Given the description of an element on the screen output the (x, y) to click on. 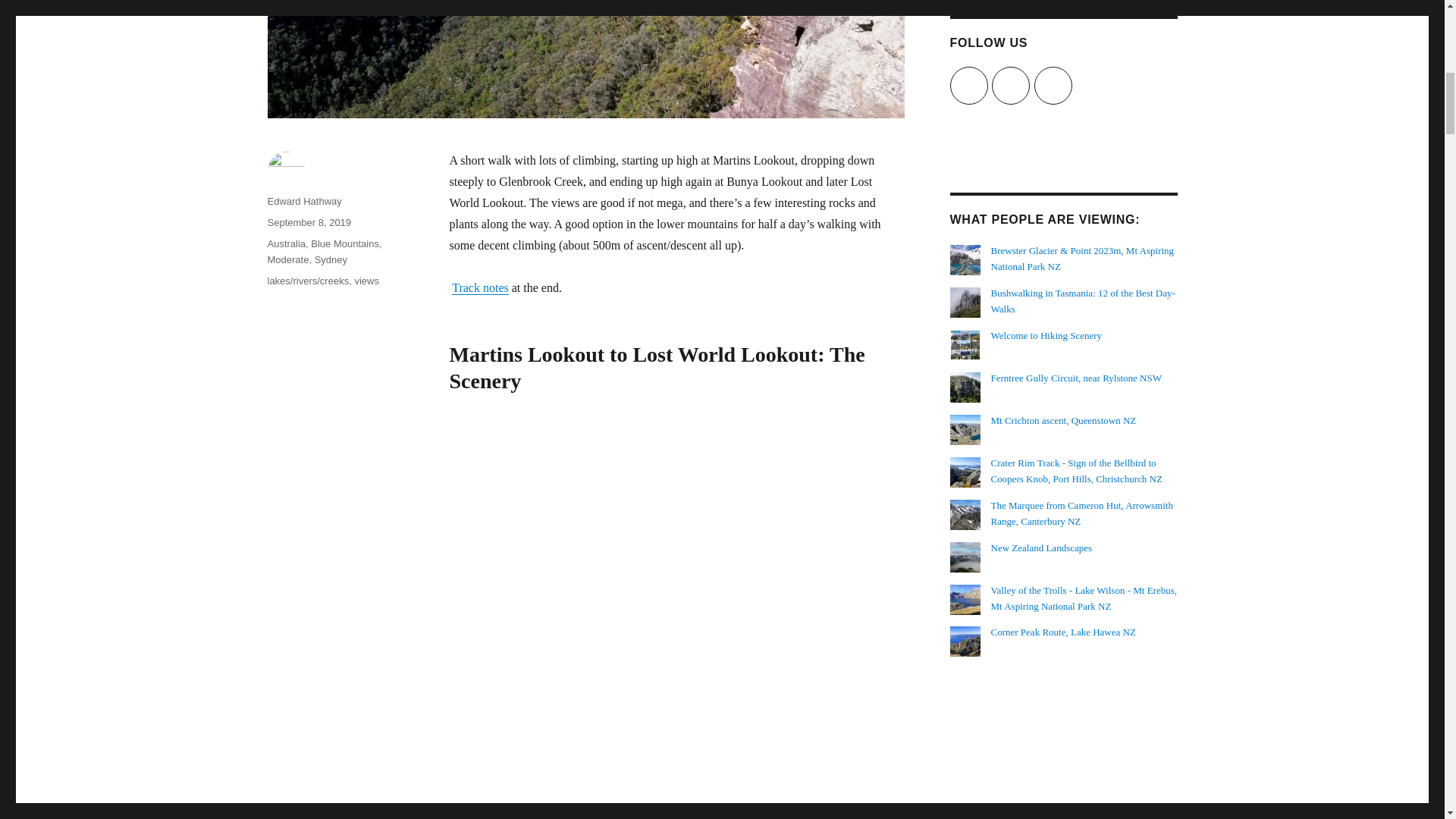
Bushwalking in Tasmania: 12 of the Best Day-Walks (1082, 300)
Welcome to Hiking Scenery (1046, 335)
Ferntree Gully Circuit, near Rylstone NSW (1076, 378)
Track notes (479, 287)
